Given the description of an element on the screen output the (x, y) to click on. 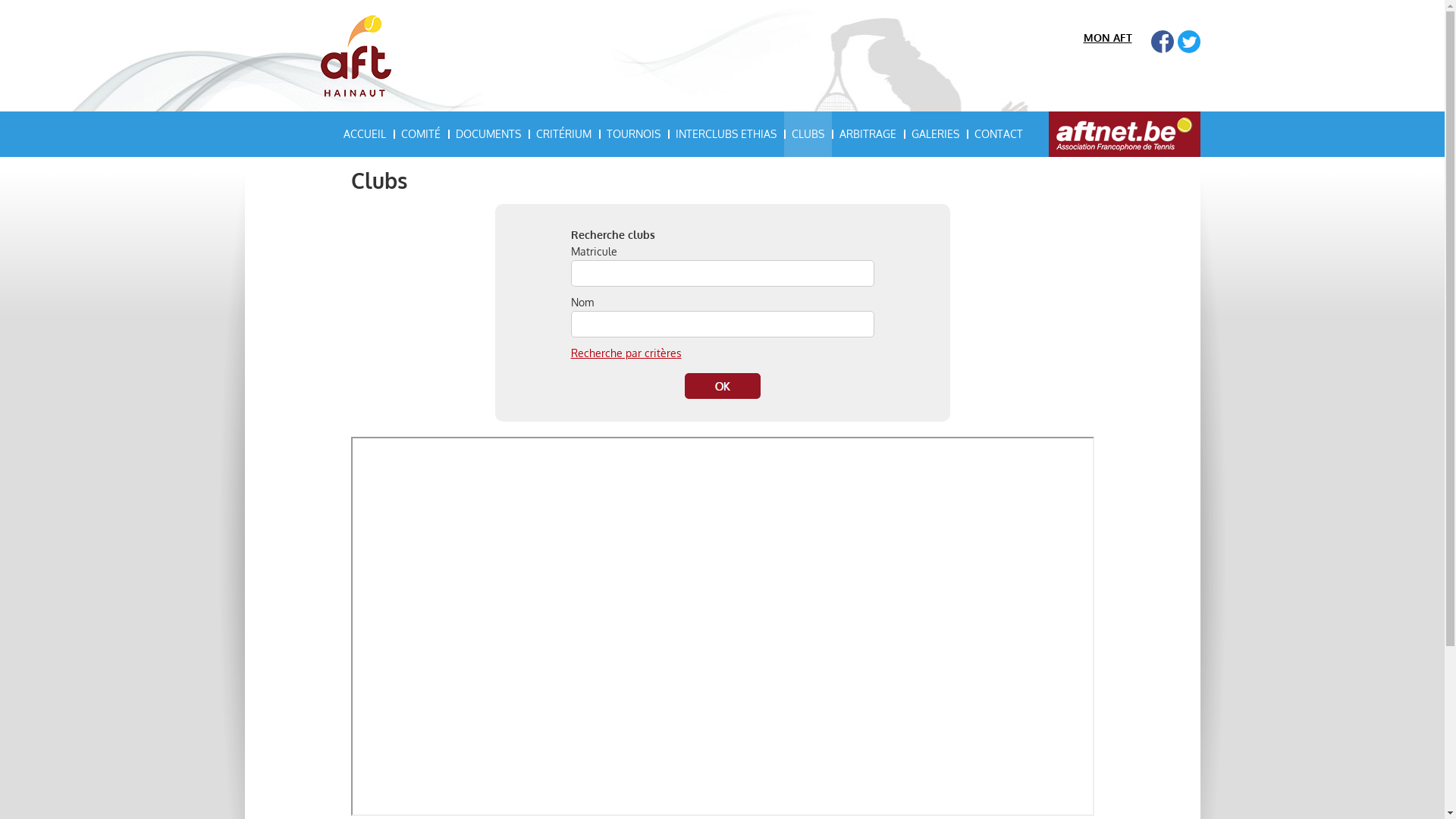
ARBITRAGE Element type: text (867, 133)
INTERCLUBS ETHIAS Element type: text (725, 133)
CONTACT Element type: text (997, 133)
CLUBS Element type: text (807, 133)
Twitter Element type: text (1187, 41)
GALERIES Element type: text (934, 133)
MON AFT Element type: text (1106, 37)
DOCUMENTS Element type: text (487, 133)
ACCUEIL Element type: text (363, 133)
Facebook Element type: text (1162, 41)
TOURNOIS Element type: text (633, 133)
